Given the description of an element on the screen output the (x, y) to click on. 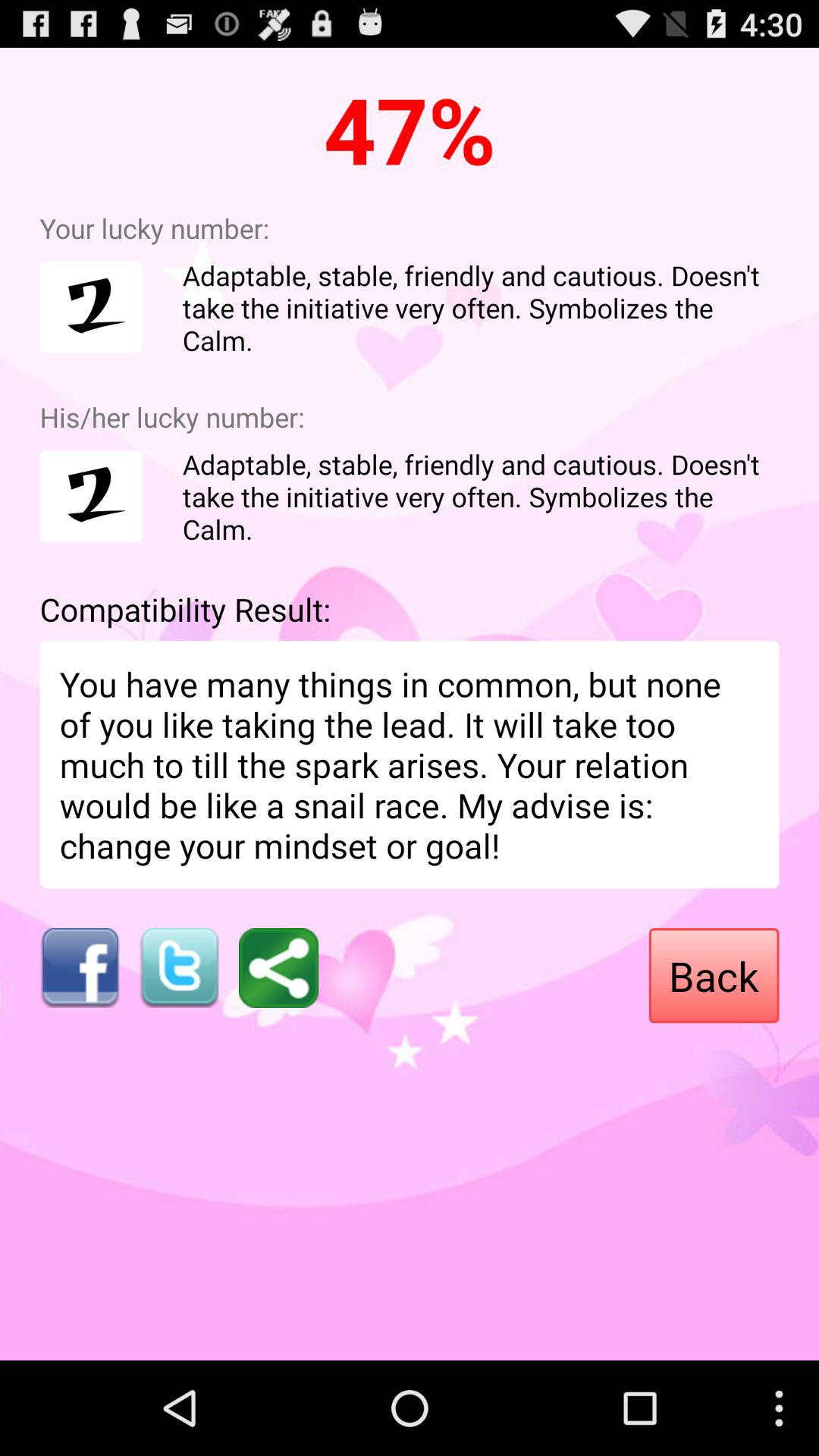
swipe until the back item (713, 975)
